Given the description of an element on the screen output the (x, y) to click on. 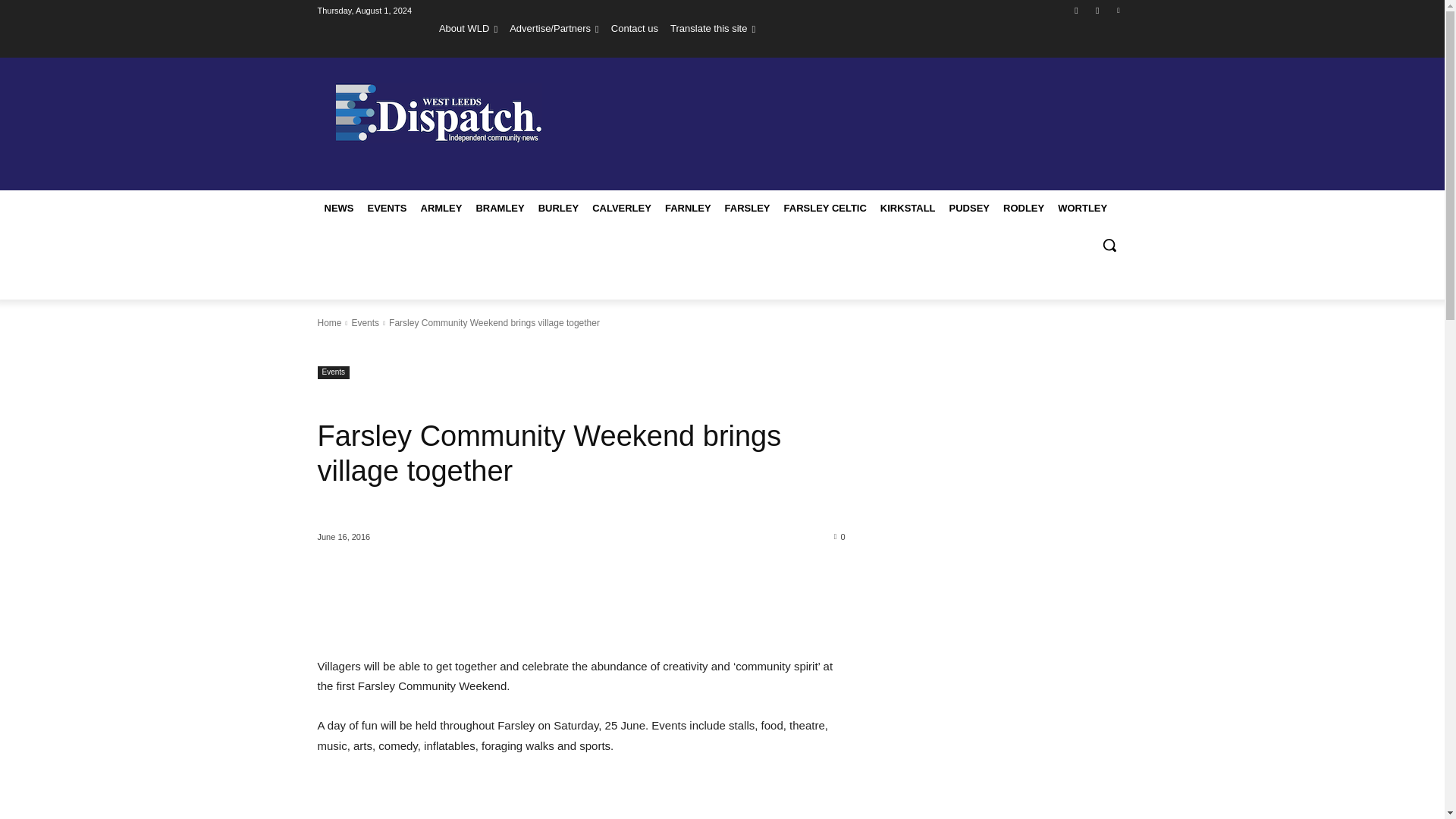
About WLD (468, 28)
Translate this site (712, 28)
Contact us (634, 28)
